Given the description of an element on the screen output the (x, y) to click on. 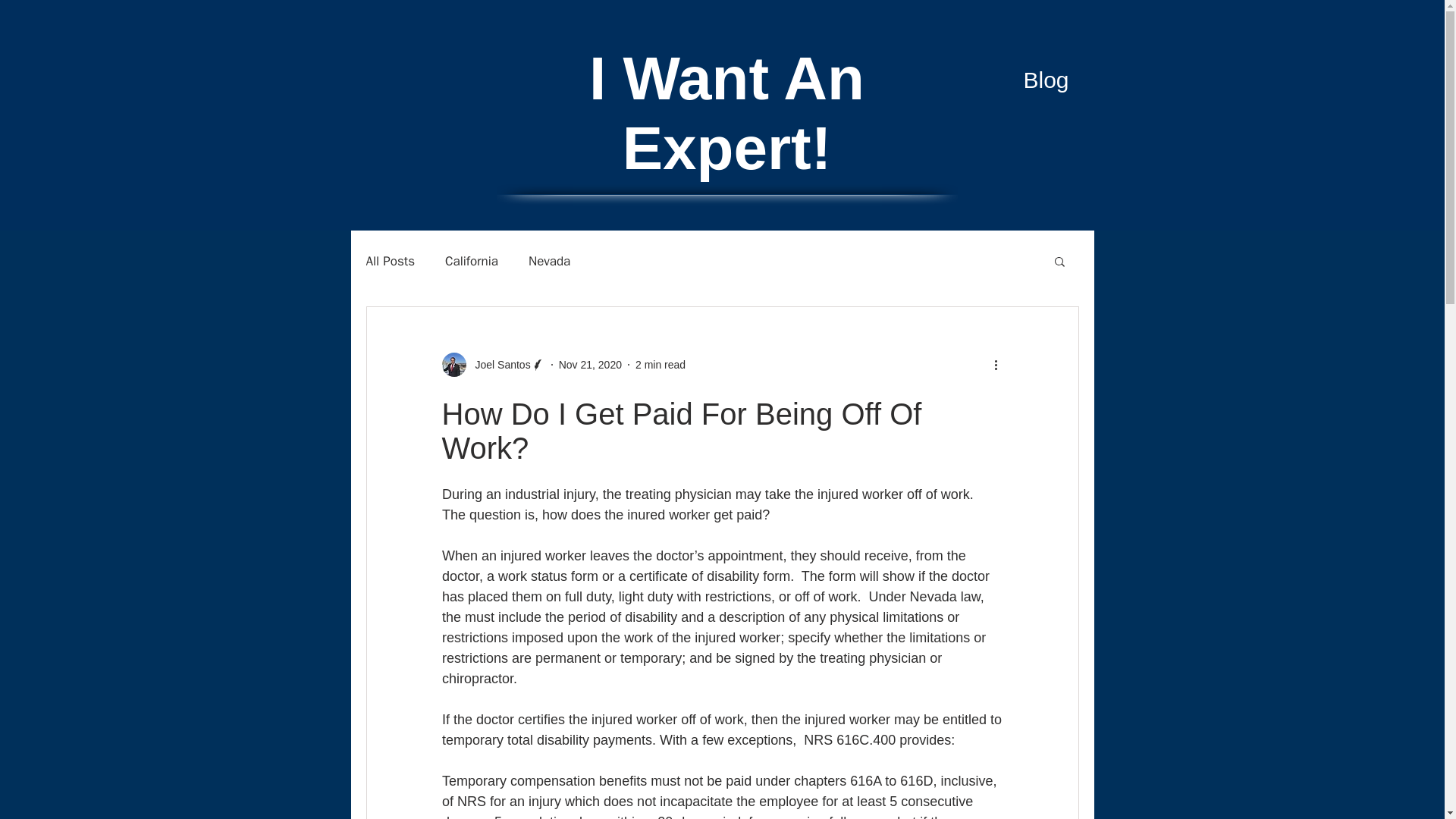
Joel Santos (497, 364)
All Posts (389, 260)
Nov 21, 2020 (590, 363)
Joel Santos (492, 364)
Nevada (549, 260)
California (471, 260)
Blog (1045, 79)
2 min read (659, 363)
I Want An Expert! (726, 113)
